Given the description of an element on the screen output the (x, y) to click on. 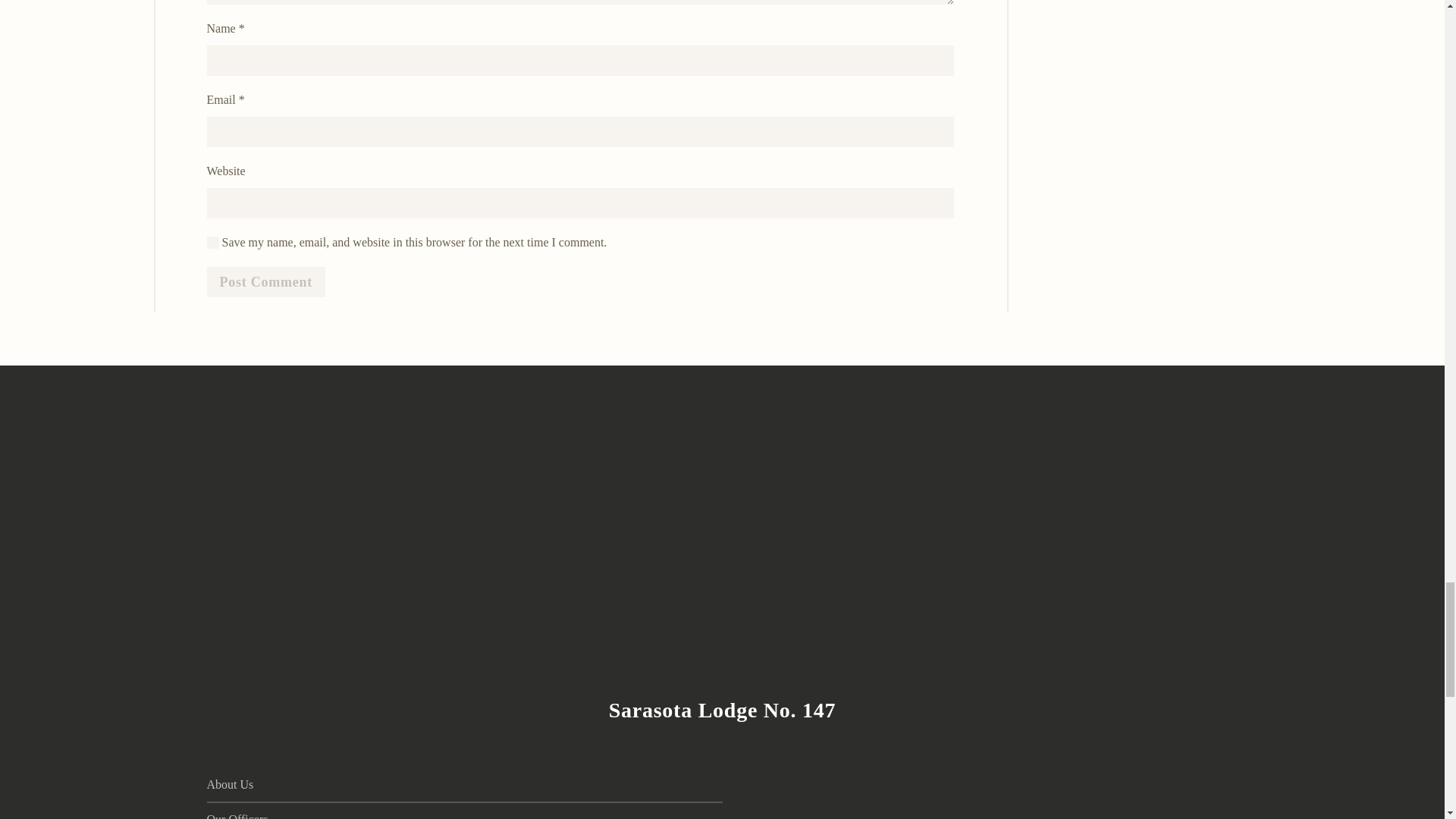
yes (212, 242)
